Given the description of an element on the screen output the (x, y) to click on. 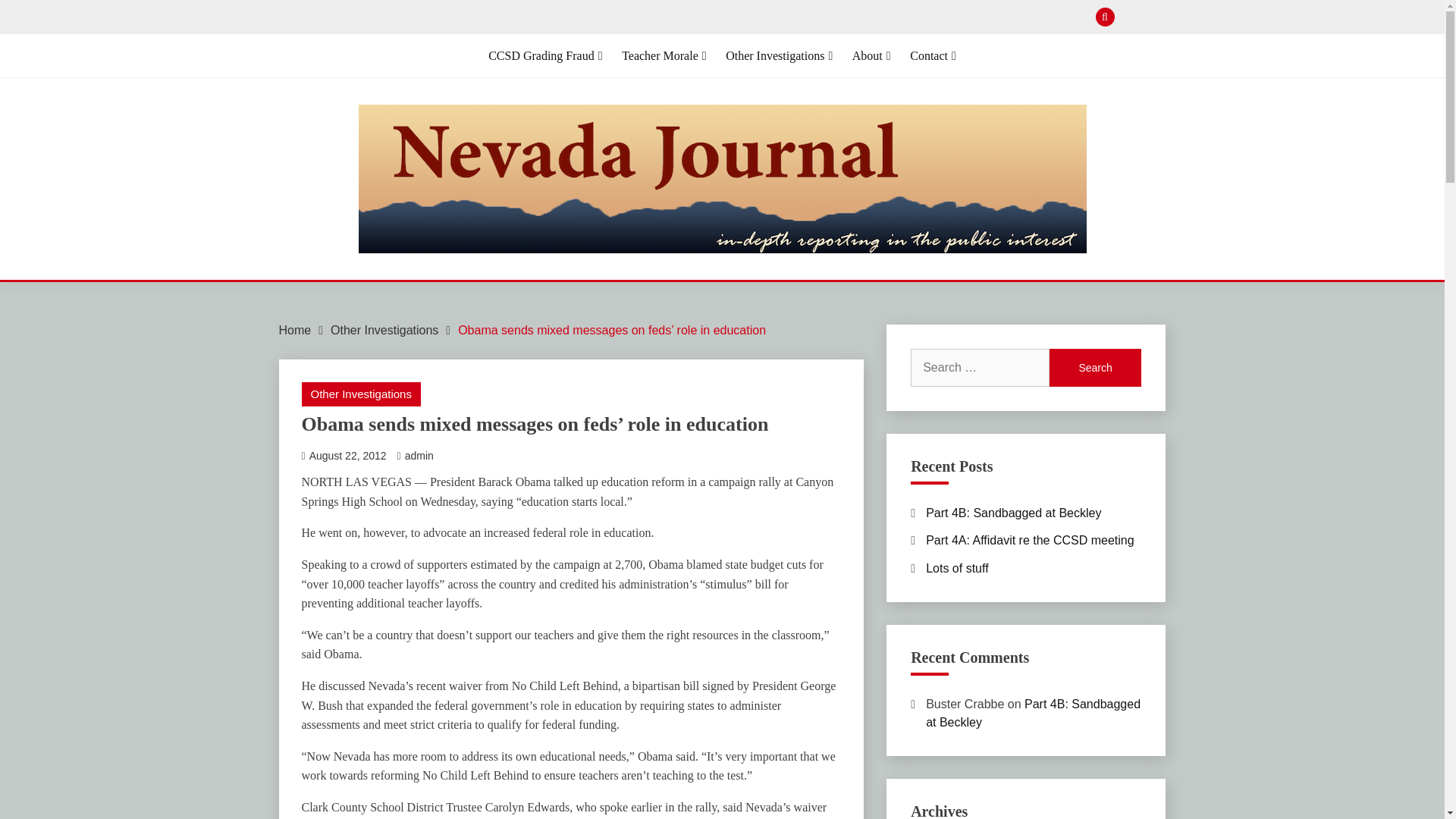
Home (295, 329)
Posts (1156, 16)
Search (832, 18)
Other Investigations (384, 329)
CCSD Grading Fraud (544, 55)
Teacher Morale (663, 55)
August 22, 2012 (347, 455)
Nevada Journal (427, 284)
Search (1095, 367)
admin (418, 455)
About (871, 55)
Other Investigations (360, 394)
Search (1095, 367)
Other Investigations (778, 55)
Contact (933, 55)
